Given the description of an element on the screen output the (x, y) to click on. 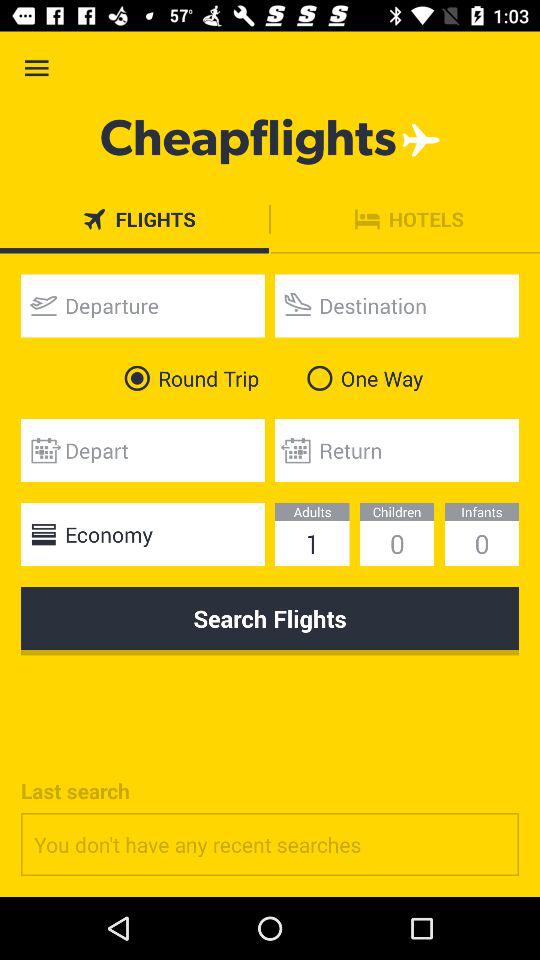
tap the round trip (187, 378)
